Given the description of an element on the screen output the (x, y) to click on. 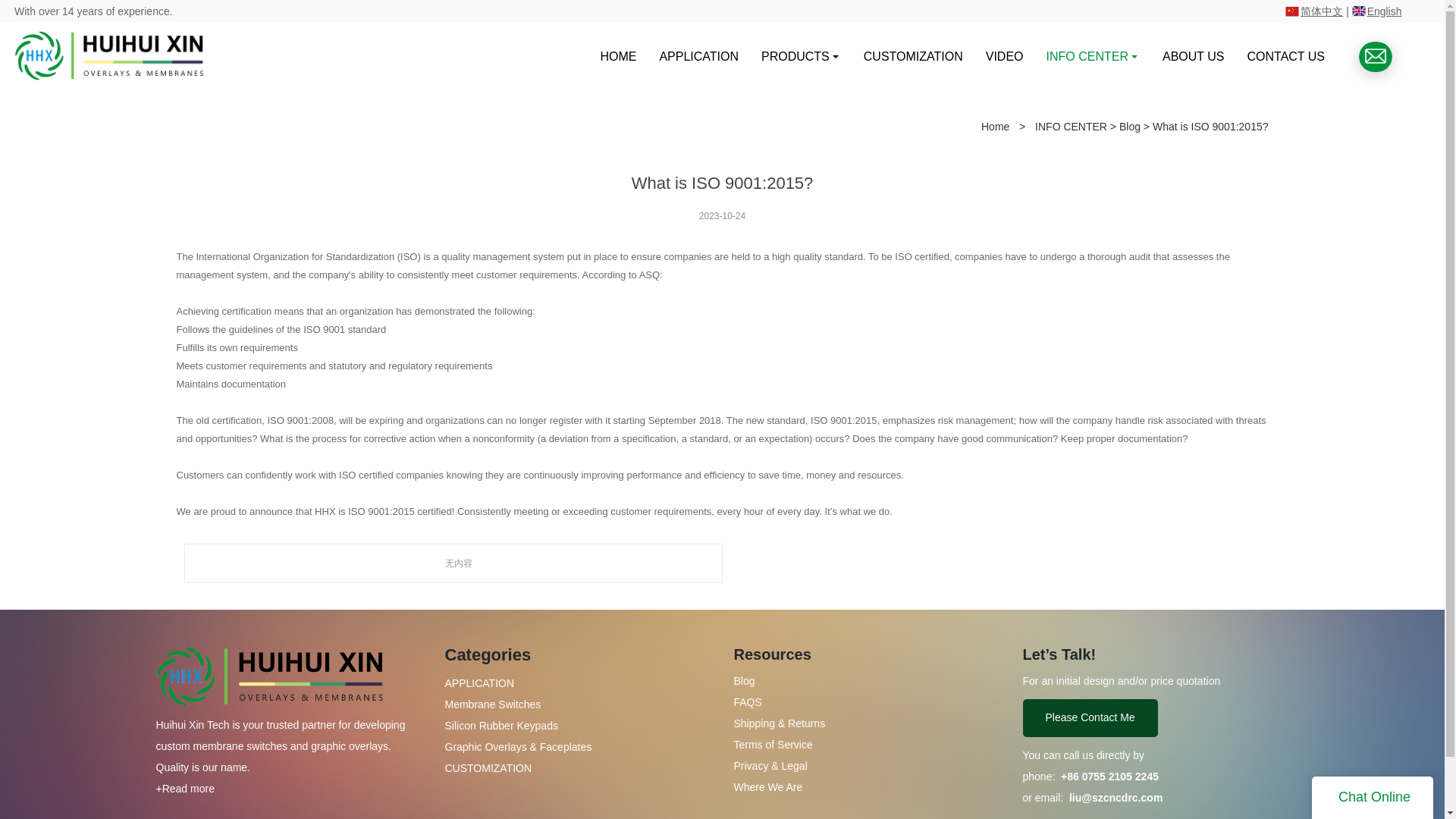
With over 14 years of experience. (93, 11)
Blog (1129, 126)
English (1383, 10)
Membrane Switches (492, 704)
Terms of Service     (779, 744)
ABOUT US (1193, 56)
FAQS (747, 702)
Silicon Rubber Keypads (500, 725)
APPLICATION (698, 56)
Blog (744, 680)
INFO CENTER (1070, 126)
CUSTOMIZATION (912, 56)
CONTACT US (1286, 56)
PRODUCTS (800, 56)
